Given the description of an element on the screen output the (x, y) to click on. 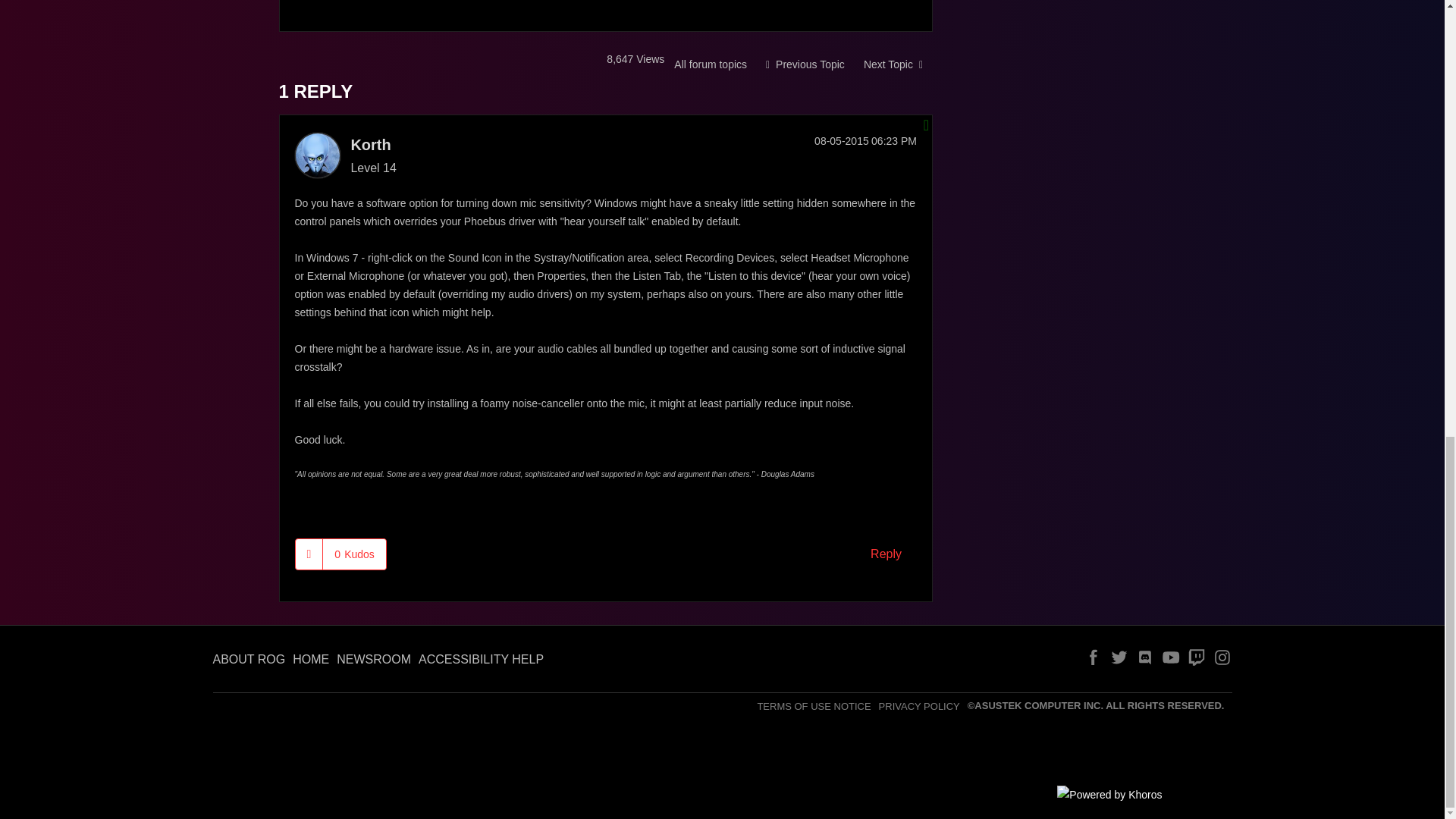
Click here to give kudos to this post. (309, 553)
Gaming Sound Cards (710, 63)
1.08 drivers missing microphone noise cancellation? (893, 63)
Korth (316, 155)
The total number of kudos this post has received. (354, 553)
